Given the description of an element on the screen output the (x, y) to click on. 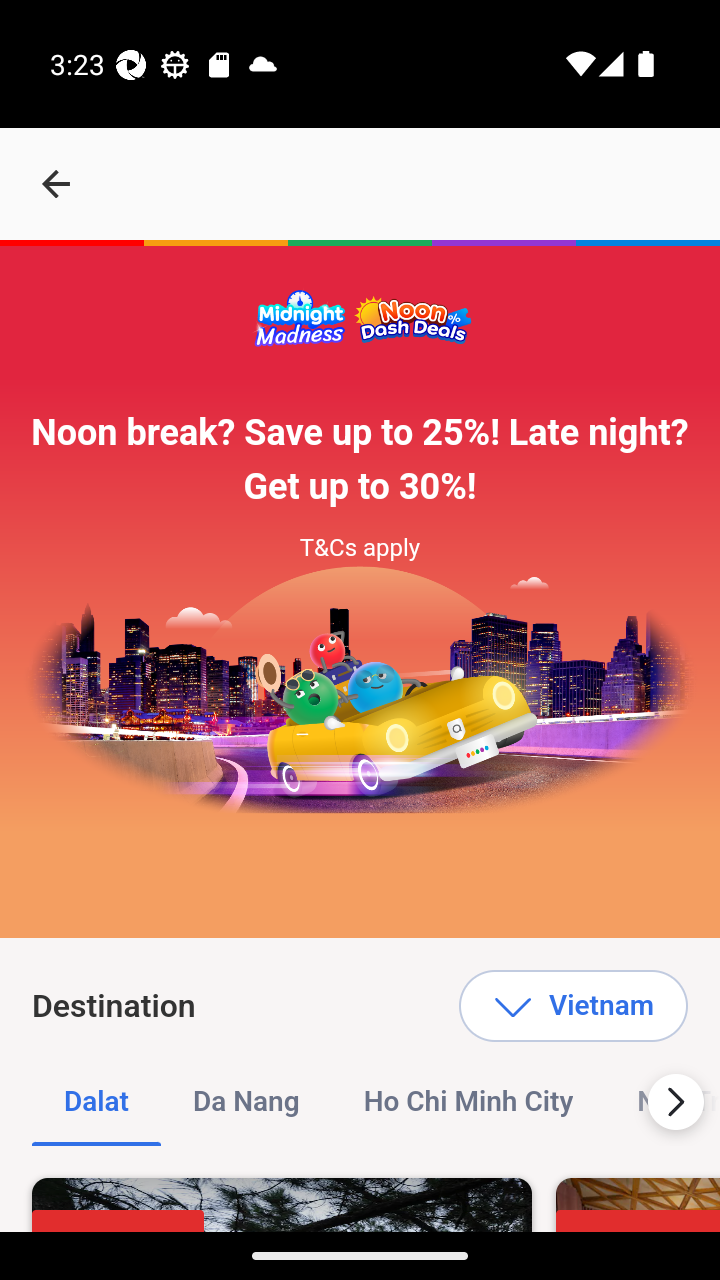
navigation_button (56, 184)
Vietnam (572, 1005)
Dalat (97, 1101)
Da Nang (245, 1101)
Ho Chi Minh City (467, 1101)
